Given the description of an element on the screen output the (x, y) to click on. 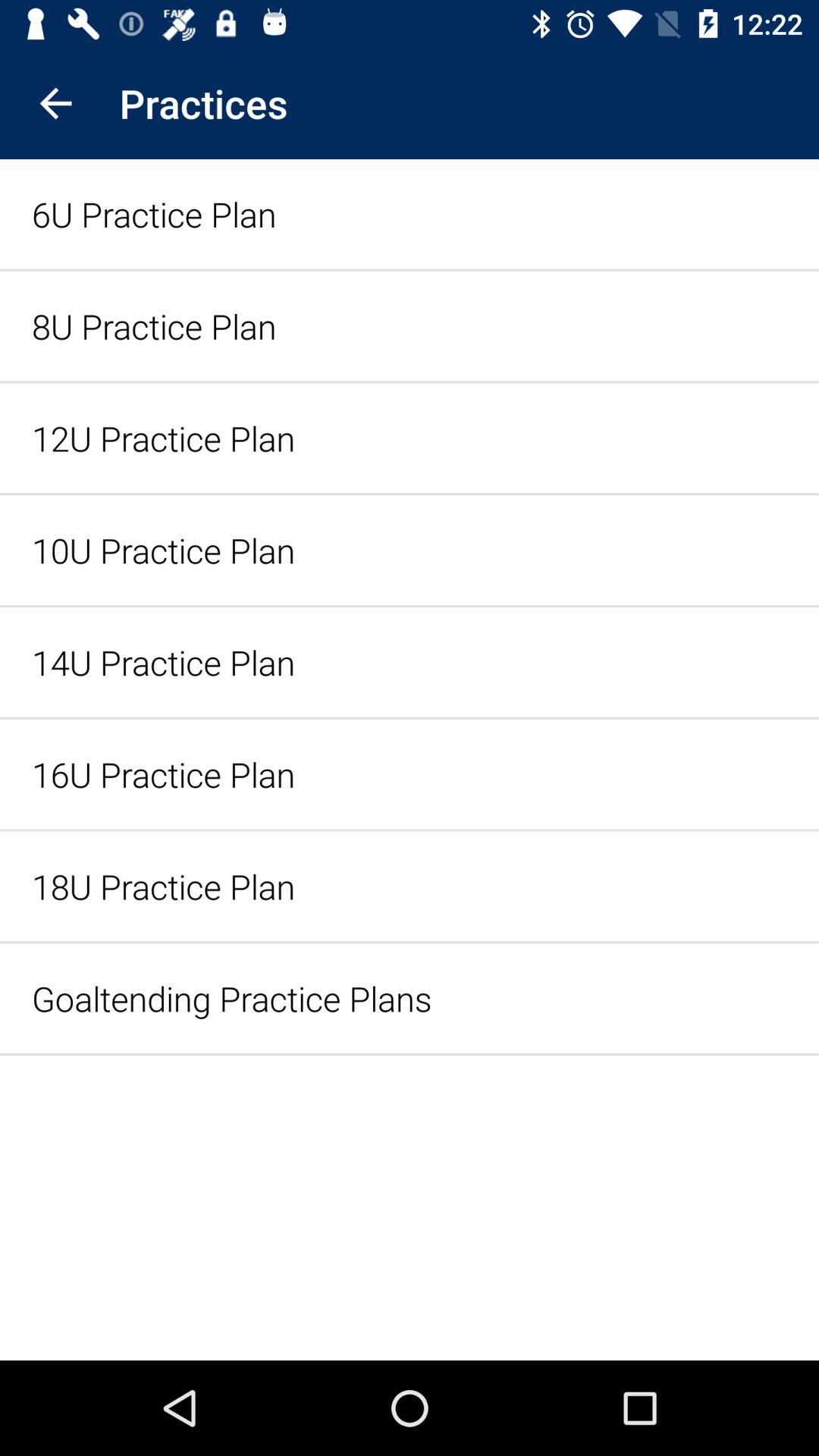
launch the icon next to the practices app (55, 103)
